Given the description of an element on the screen output the (x, y) to click on. 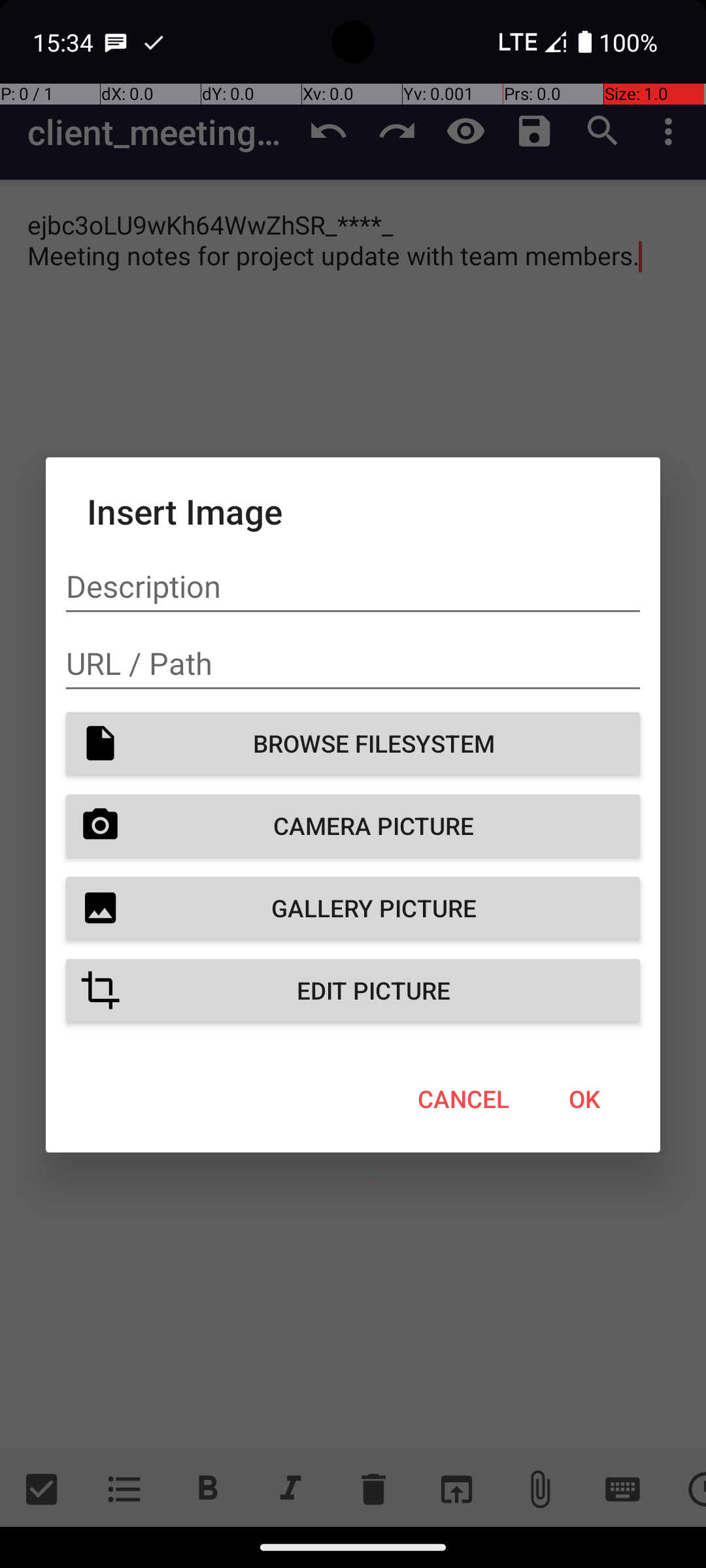
Insert Image Element type: android.widget.TextView (352, 511)
URL / Path Element type: android.widget.EditText (352, 663)
BROWSE FILESYSTEM Element type: android.widget.Button (352, 743)
CAMERA PICTURE Element type: android.widget.Button (352, 825)
GALLERY PICTURE Element type: android.widget.Button (352, 907)
EDIT PICTURE Element type: android.widget.Button (352, 990)
